Given the description of an element on the screen output the (x, y) to click on. 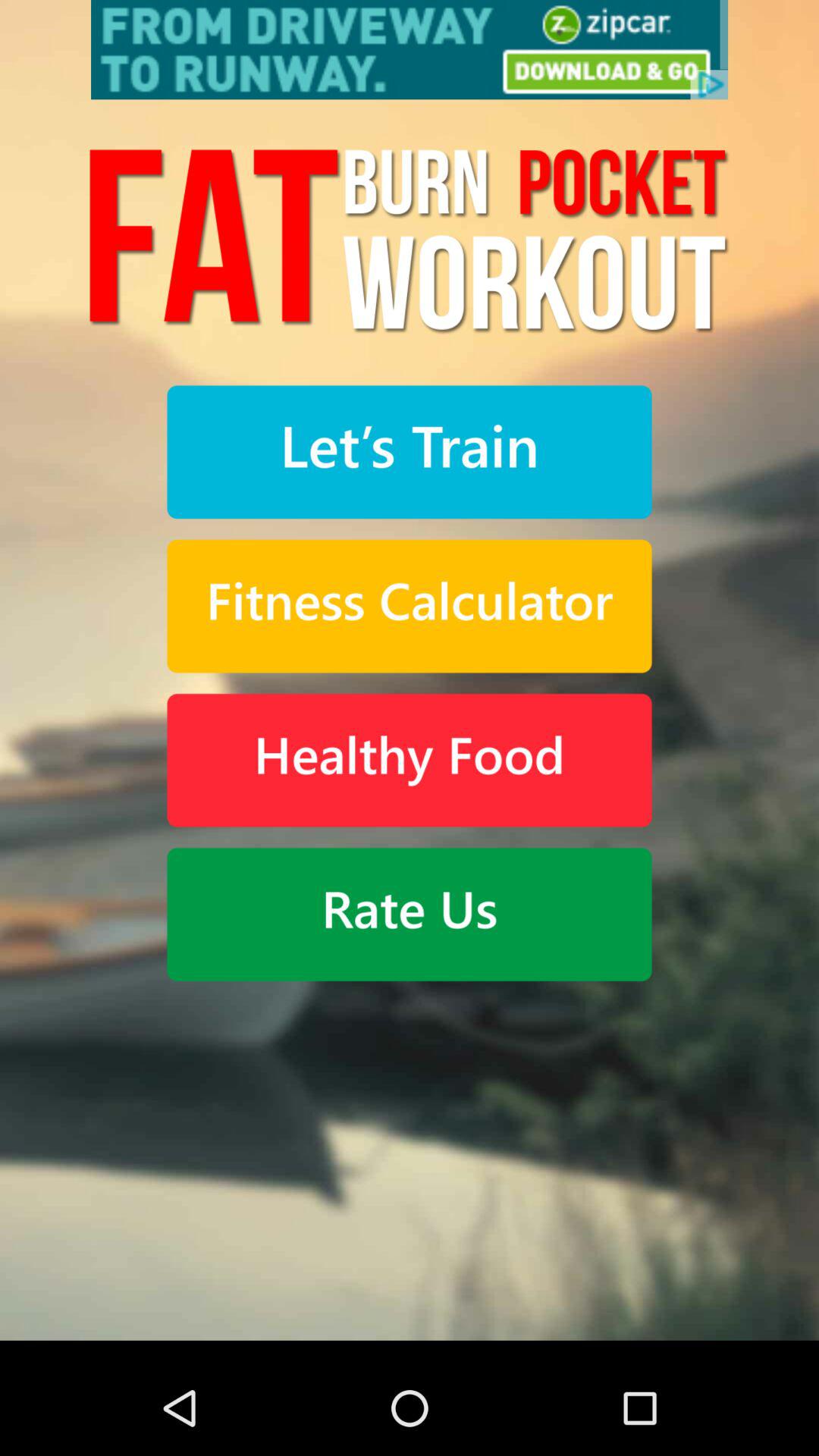
go to calculator (409, 606)
